Given the description of an element on the screen output the (x, y) to click on. 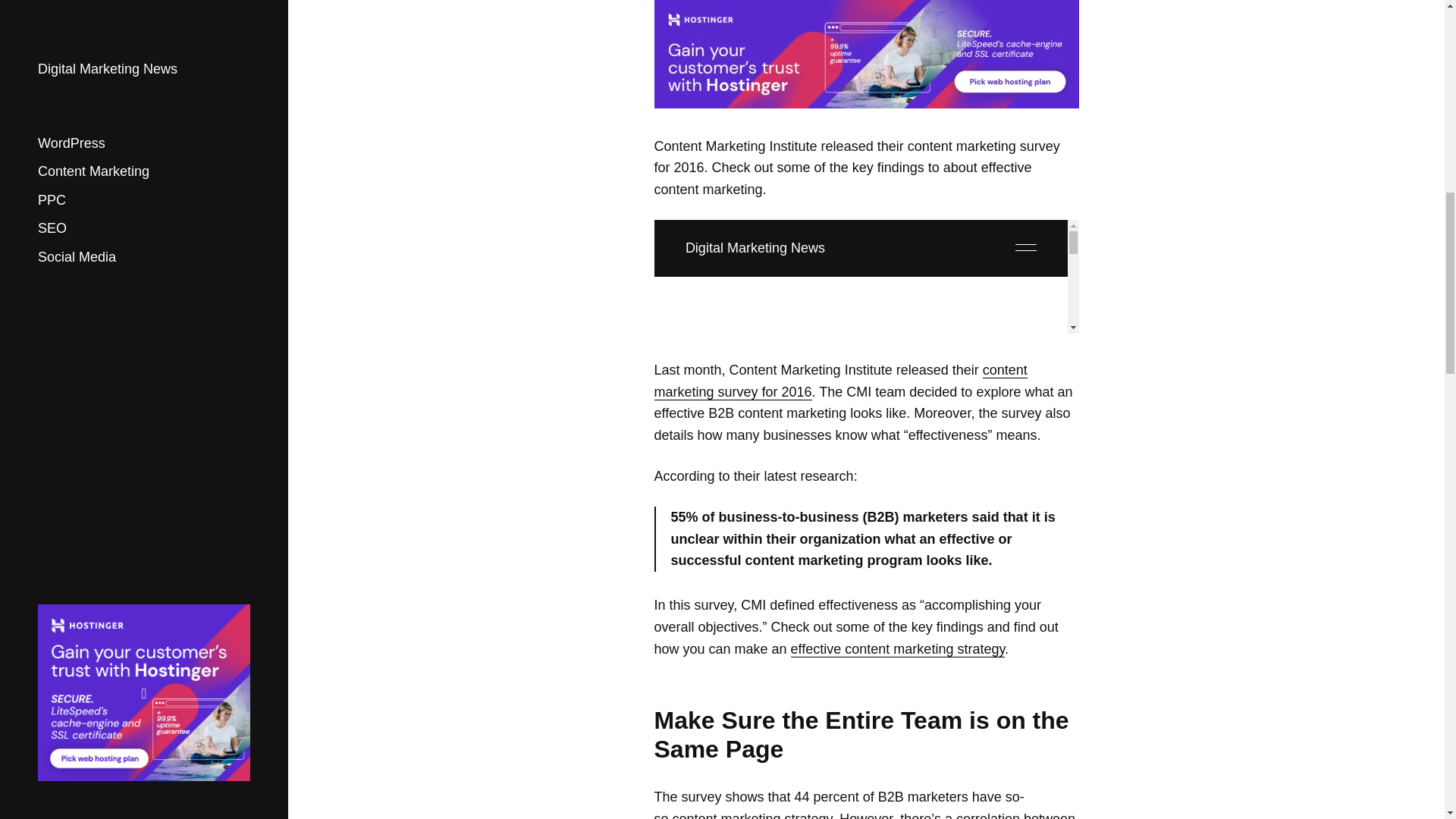
effective content marketing strategy (897, 649)
content marketing survey for 2016 (839, 381)
